Given the description of an element on the screen output the (x, y) to click on. 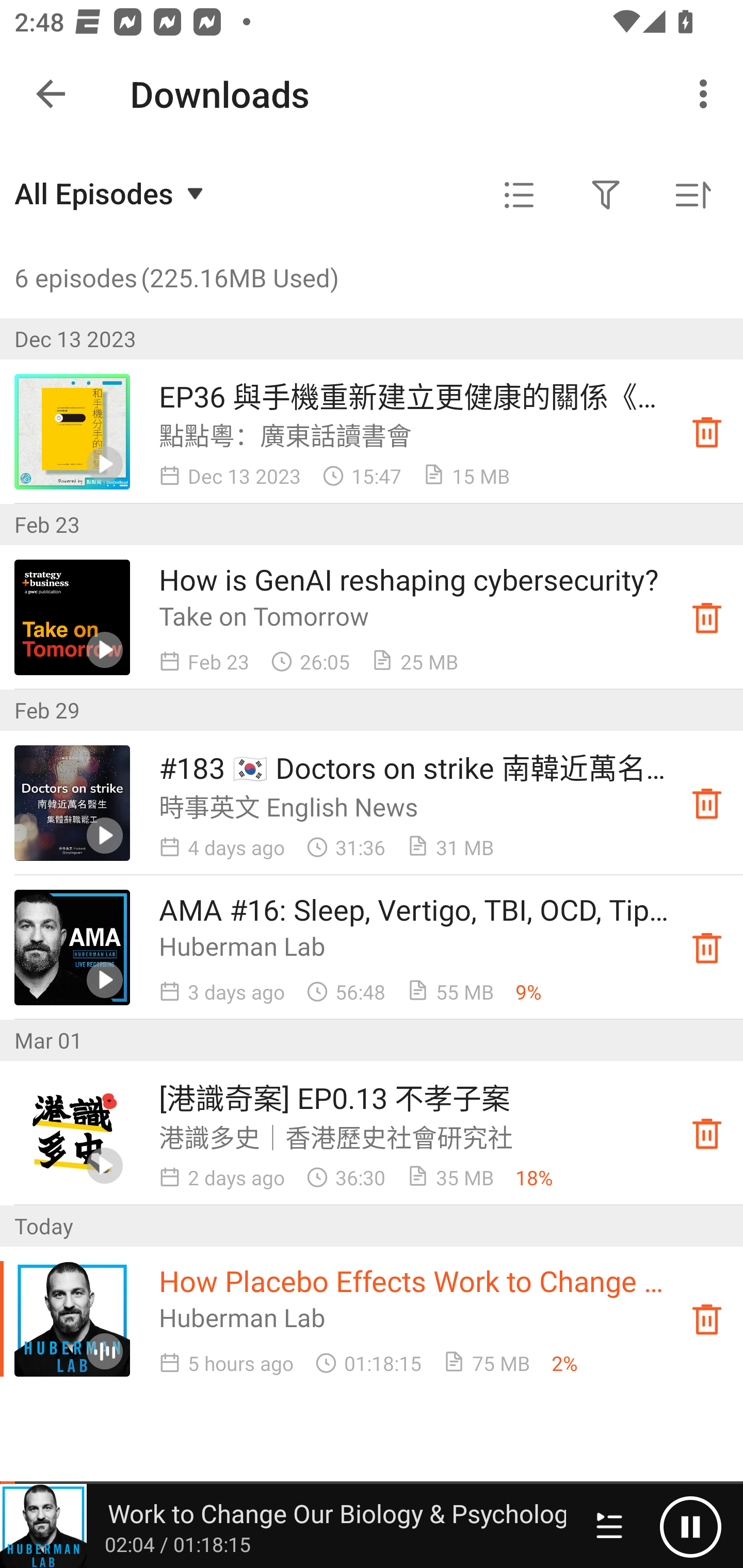
Navigate up (50, 93)
More options (706, 93)
All Episodes (111, 192)
 (518, 195)
 (605, 195)
 Sorted by oldest first (692, 195)
Downloaded (706, 431)
Downloaded (706, 617)
Downloaded (706, 802)
Downloaded (706, 947)
Downloaded (706, 1133)
Downloaded (706, 1318)
Pause (690, 1526)
